Given the description of an element on the screen output the (x, y) to click on. 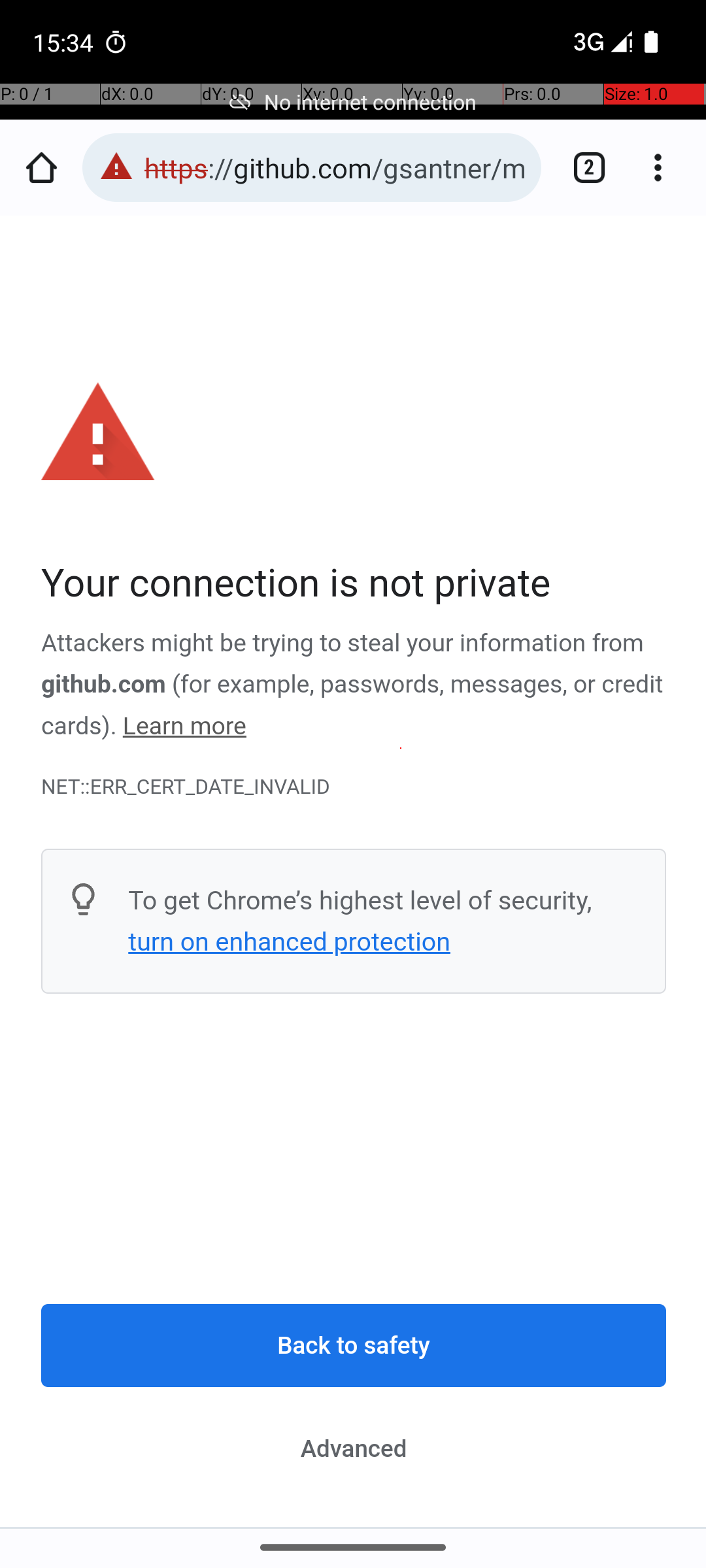
https://github.com/gsantner/markor/issues/new/choose Element type: android.widget.EditText (335, 167)
